Given the description of an element on the screen output the (x, y) to click on. 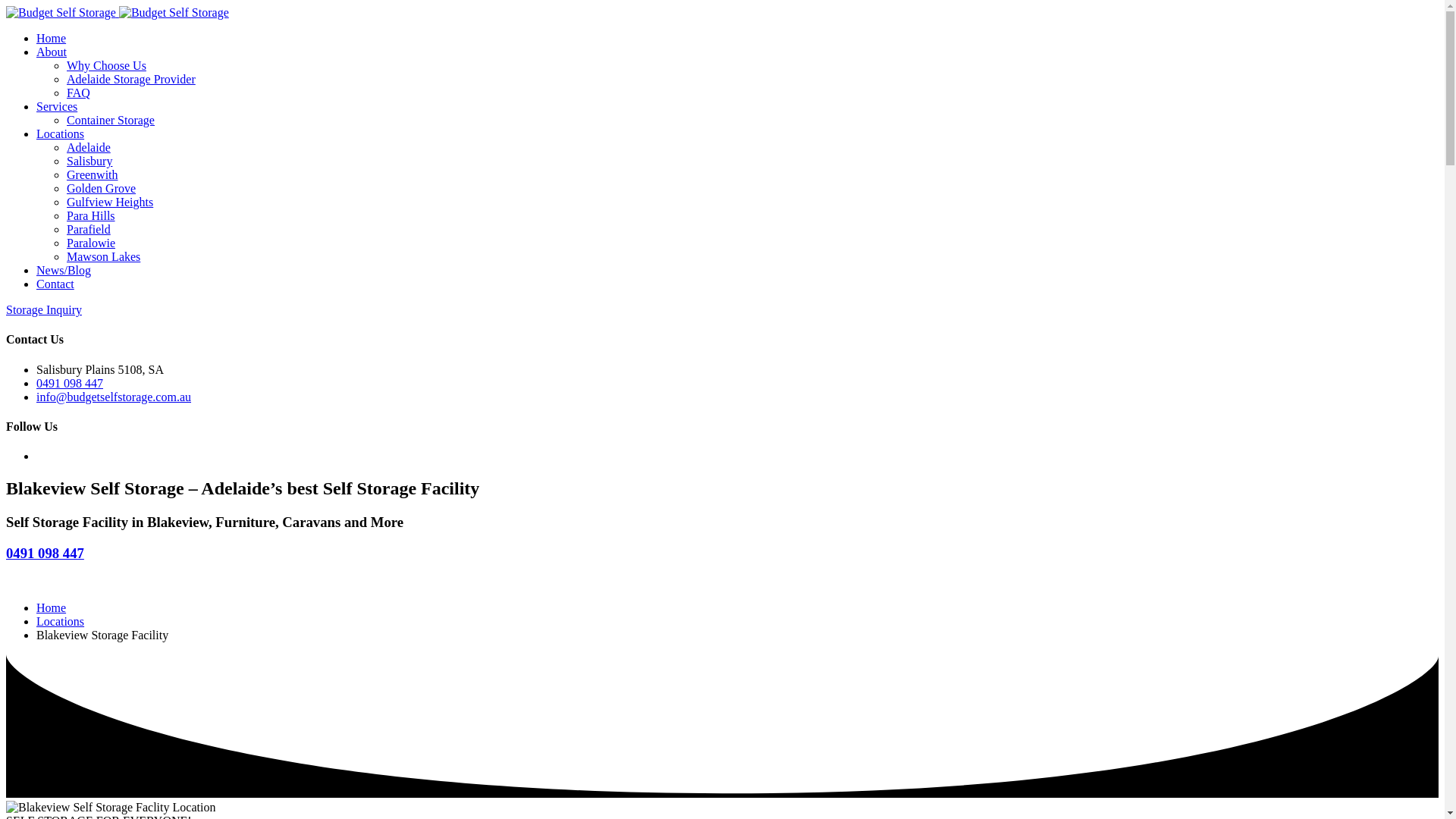
Gulfview Heights (109, 201)
Storage Inquiry (43, 309)
Para Hills (90, 215)
Locations (60, 621)
Salisbury (89, 160)
Container Storage (110, 119)
FAQ (78, 92)
Parafield (88, 228)
Adelaide Storage Provider (130, 78)
Greenwith (91, 174)
